Given the description of an element on the screen output the (x, y) to click on. 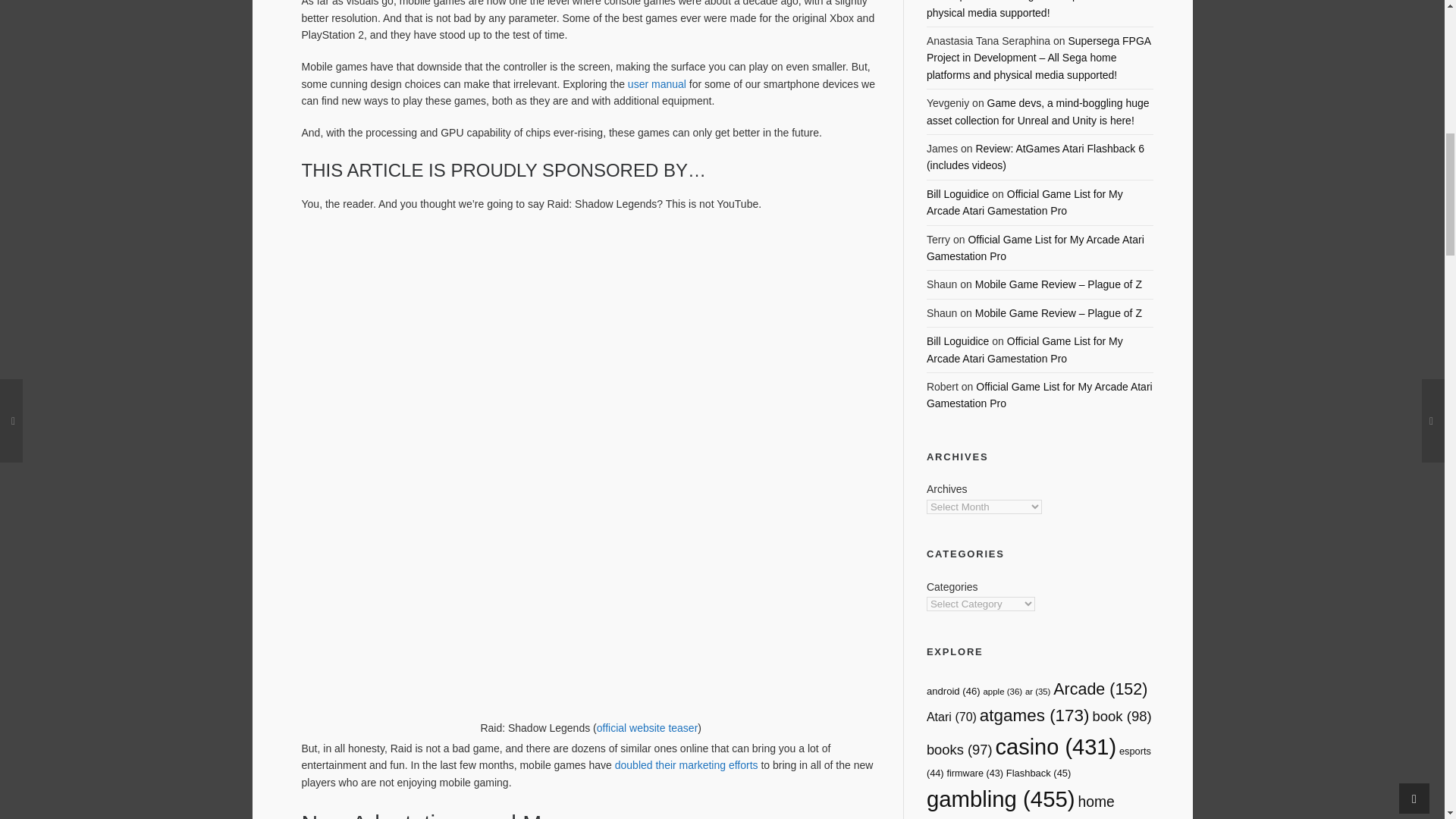
official website teaser (647, 727)
user manual (656, 83)
doubled their marketing efforts (686, 765)
